Given the description of an element on the screen output the (x, y) to click on. 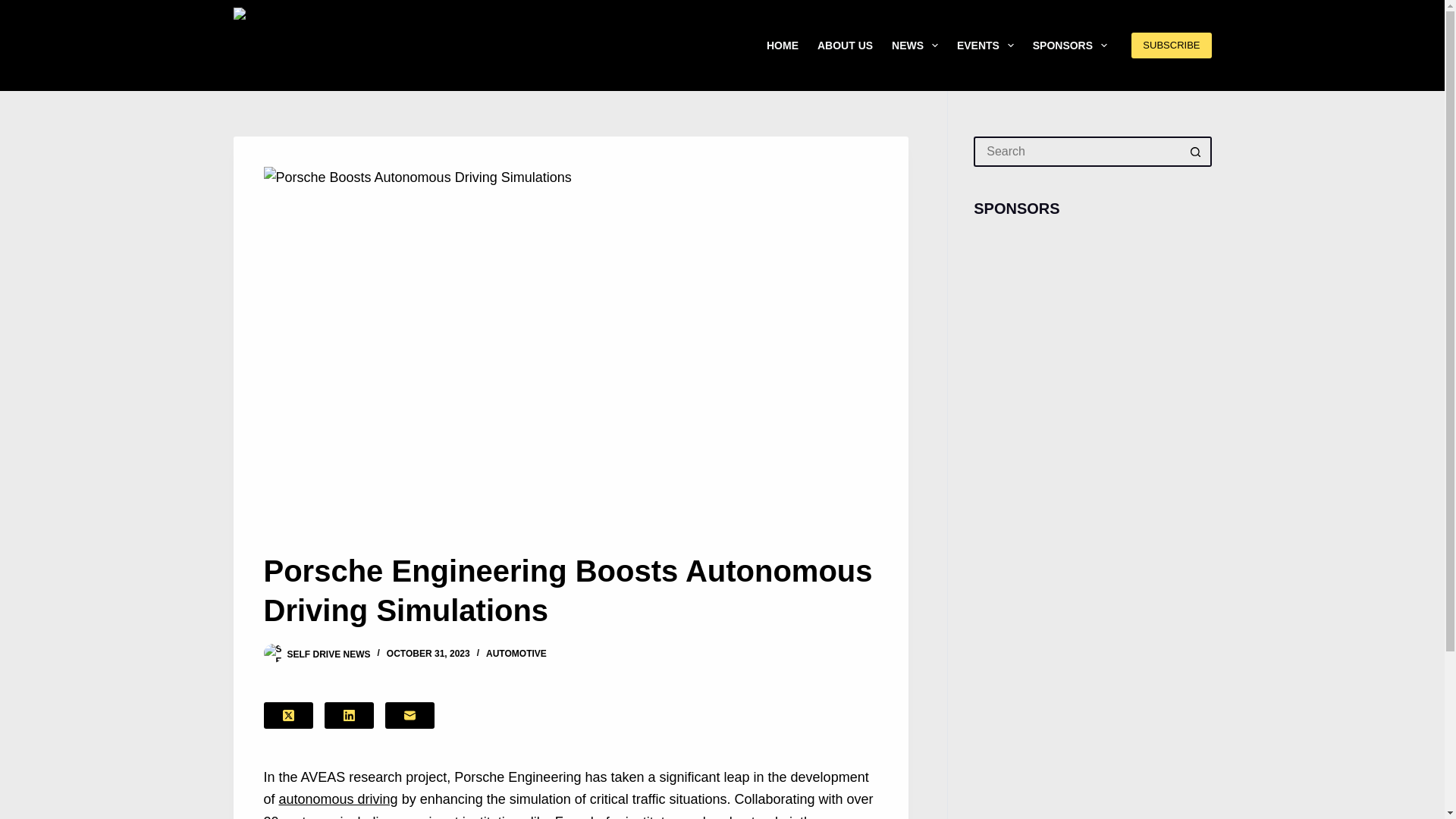
SUBSCRIBE (1171, 45)
NEWS (914, 45)
EVENTS (985, 45)
ABOUT US (845, 45)
SPONSORS (1069, 45)
Skip to content (15, 7)
Posts by Self Drive News (327, 653)
HOME (782, 45)
Search for... (1077, 151)
Porsche Engineering Boosts Autonomous Driving Simulations (570, 590)
